Given the description of an element on the screen output the (x, y) to click on. 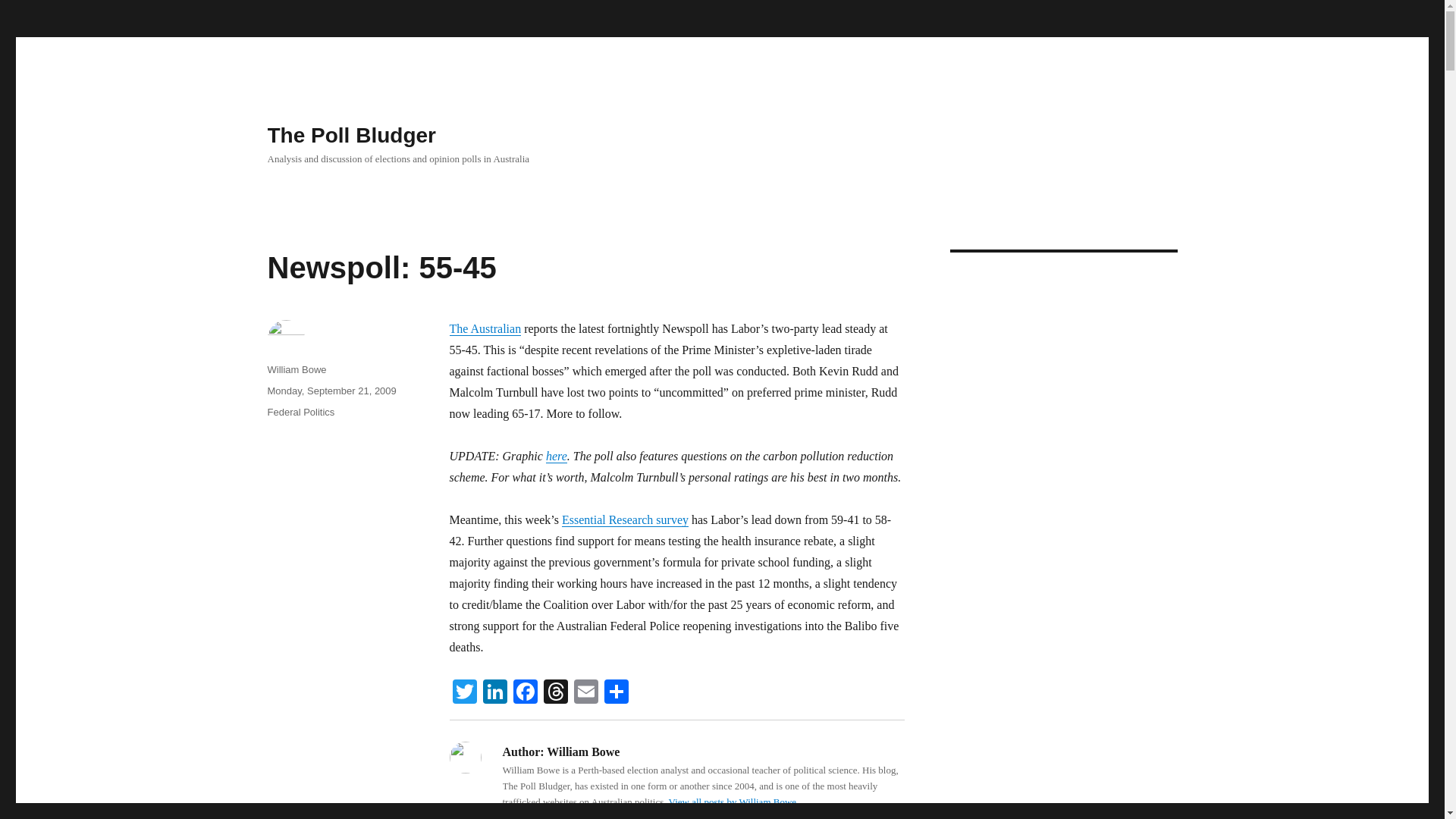
Facebook (524, 693)
here (556, 455)
Federal Politics (300, 411)
The Australian (484, 328)
View all posts by William Bowe (732, 801)
Twitter (463, 693)
Essential Research survey (625, 519)
The Poll Bludger (350, 135)
Facebook (524, 693)
LinkedIn (494, 693)
Threads (555, 693)
Twitter (463, 693)
Threads (555, 693)
Share (614, 693)
Email (584, 693)
